Given the description of an element on the screen output the (x, y) to click on. 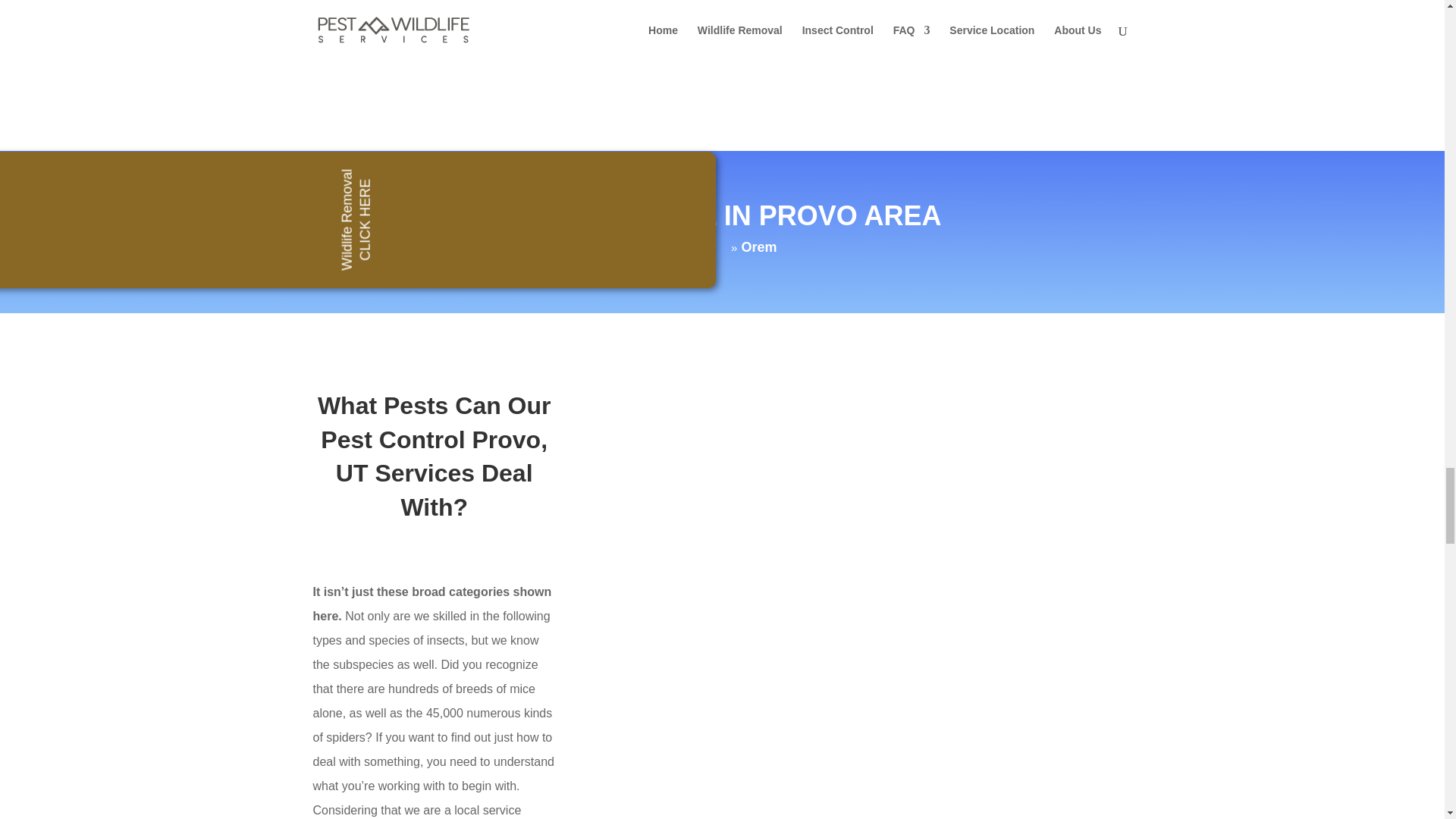
Provo (693, 246)
Orem (758, 246)
